Given the description of an element on the screen output the (x, y) to click on. 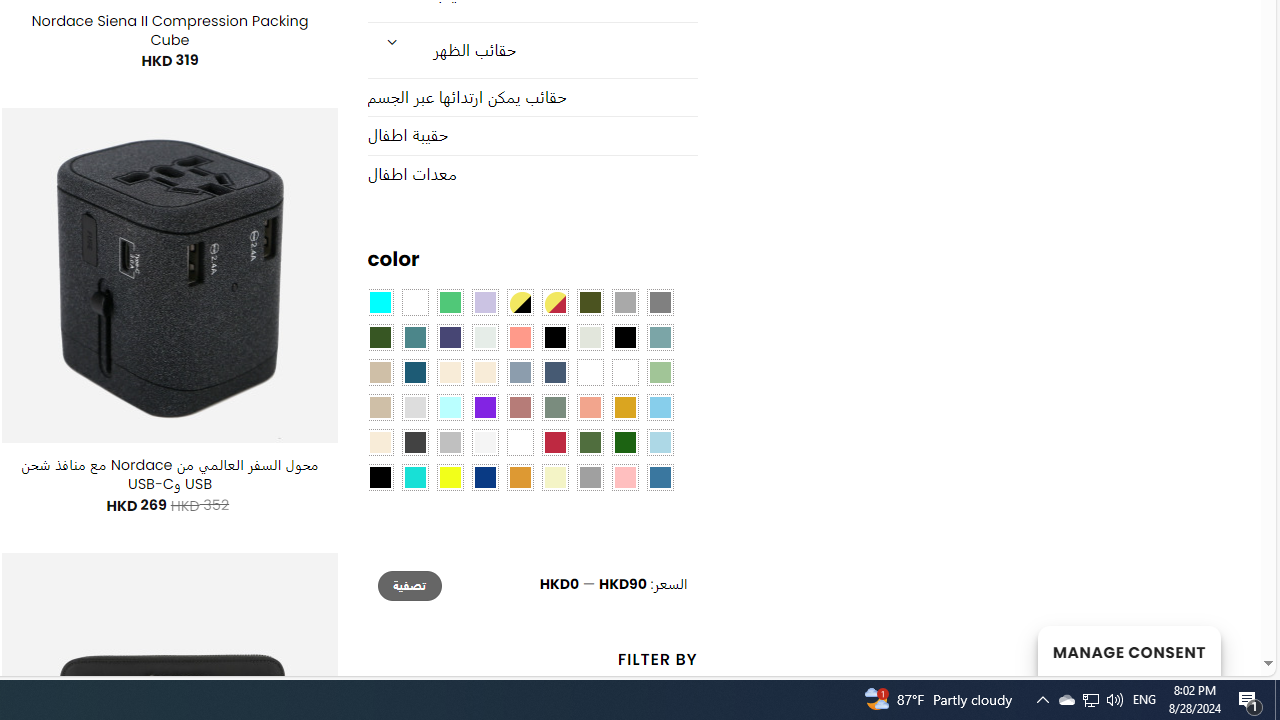
Aqua Blue (379, 303)
Kelp (589, 372)
Caramel (449, 372)
Brownie (379, 372)
Emerald Green (449, 303)
Light Green (659, 372)
Mint (449, 408)
